Given the description of an element on the screen output the (x, y) to click on. 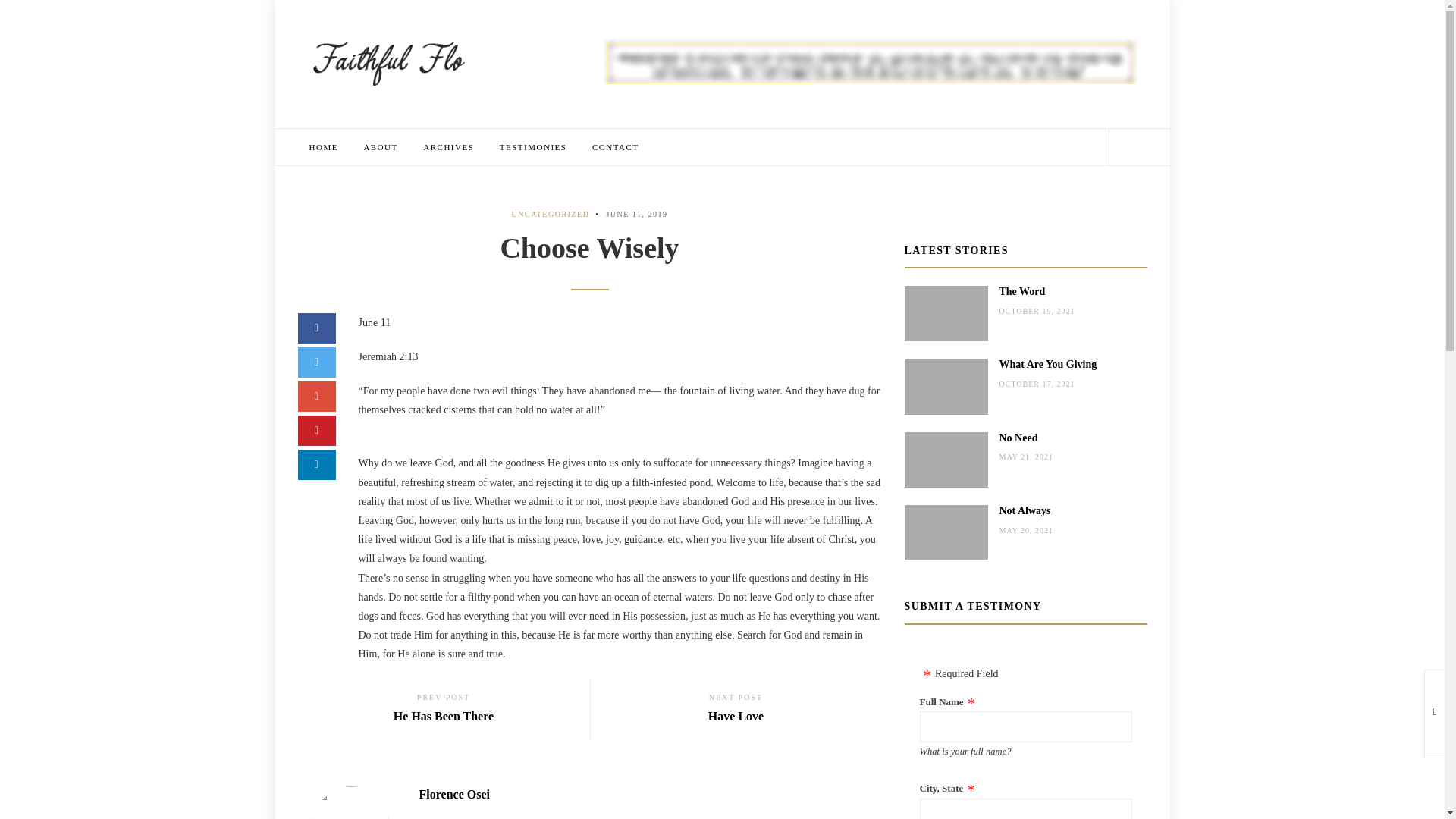
Faithful Flo (735, 710)
ARCHIVES (388, 62)
JUNE 11, 2019 (447, 146)
Florence Osei (635, 213)
HOME (454, 793)
ABOUT (323, 146)
What Are You Giving (379, 146)
UNCATEGORIZED (1047, 364)
CONTACT (443, 710)
The Word (550, 213)
TESTIMONIES (615, 146)
